Given the description of an element on the screen output the (x, y) to click on. 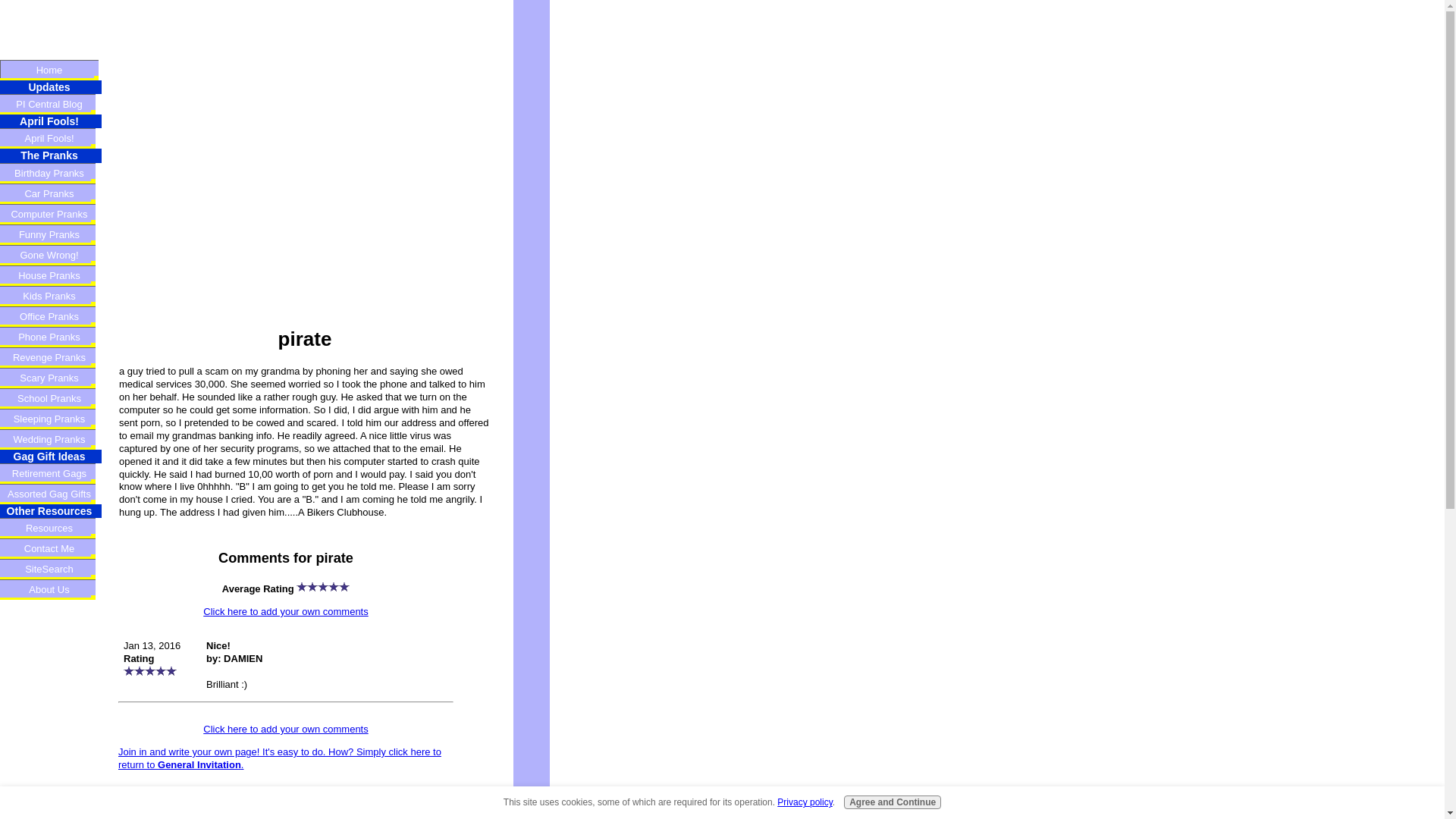
School Pranks (50, 398)
House Pranks (50, 275)
Wedding Pranks (50, 439)
Office Pranks (50, 316)
Revenge Pranks (50, 357)
Funny Pranks (50, 234)
Car Pranks (50, 193)
About Us (50, 589)
Scary Pranks (50, 377)
April Fools! (50, 137)
Contact Me (50, 548)
Resources (50, 527)
Click here to add your own comments (285, 728)
Kids Pranks (50, 295)
Sleeping Pranks (50, 418)
